Given the description of an element on the screen output the (x, y) to click on. 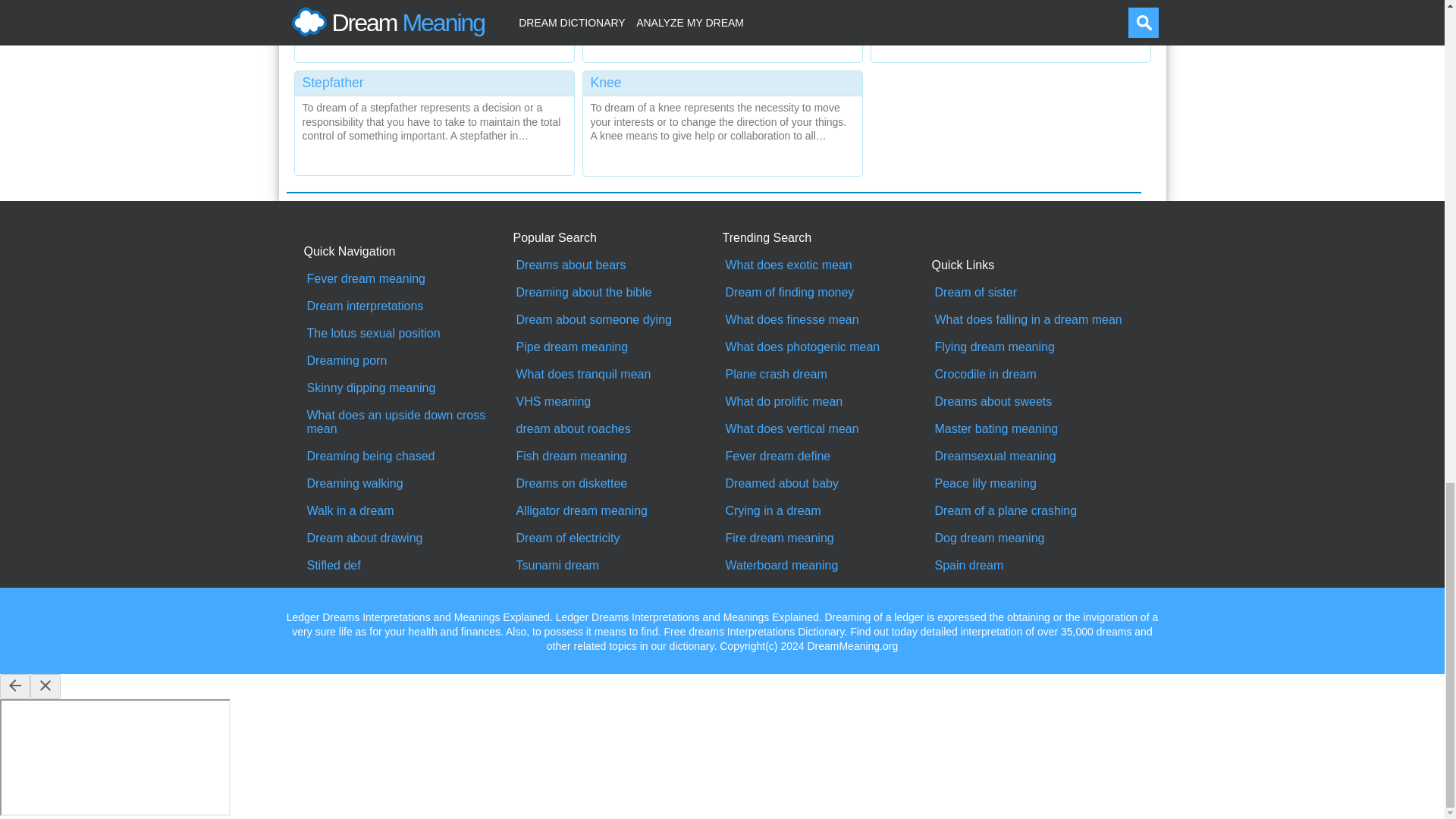
What does an upside down cross mean (407, 421)
Dreaming being chased (407, 456)
Stifled def (407, 565)
Dreaming about the bible (617, 292)
What does tranquil mean (617, 374)
Dream about someone dying (617, 319)
Big Bird Dream Meaning (1010, 27)
Dreaming porn (407, 360)
Dream about drawing (407, 538)
The lotus sexual position (407, 333)
VHS meaning (617, 401)
Skinny dipping meaning (407, 387)
Walk in a dream (407, 510)
Uterus Dream Meaning (433, 27)
Antidote Dream Meaning (721, 27)
